Given the description of an element on the screen output the (x, y) to click on. 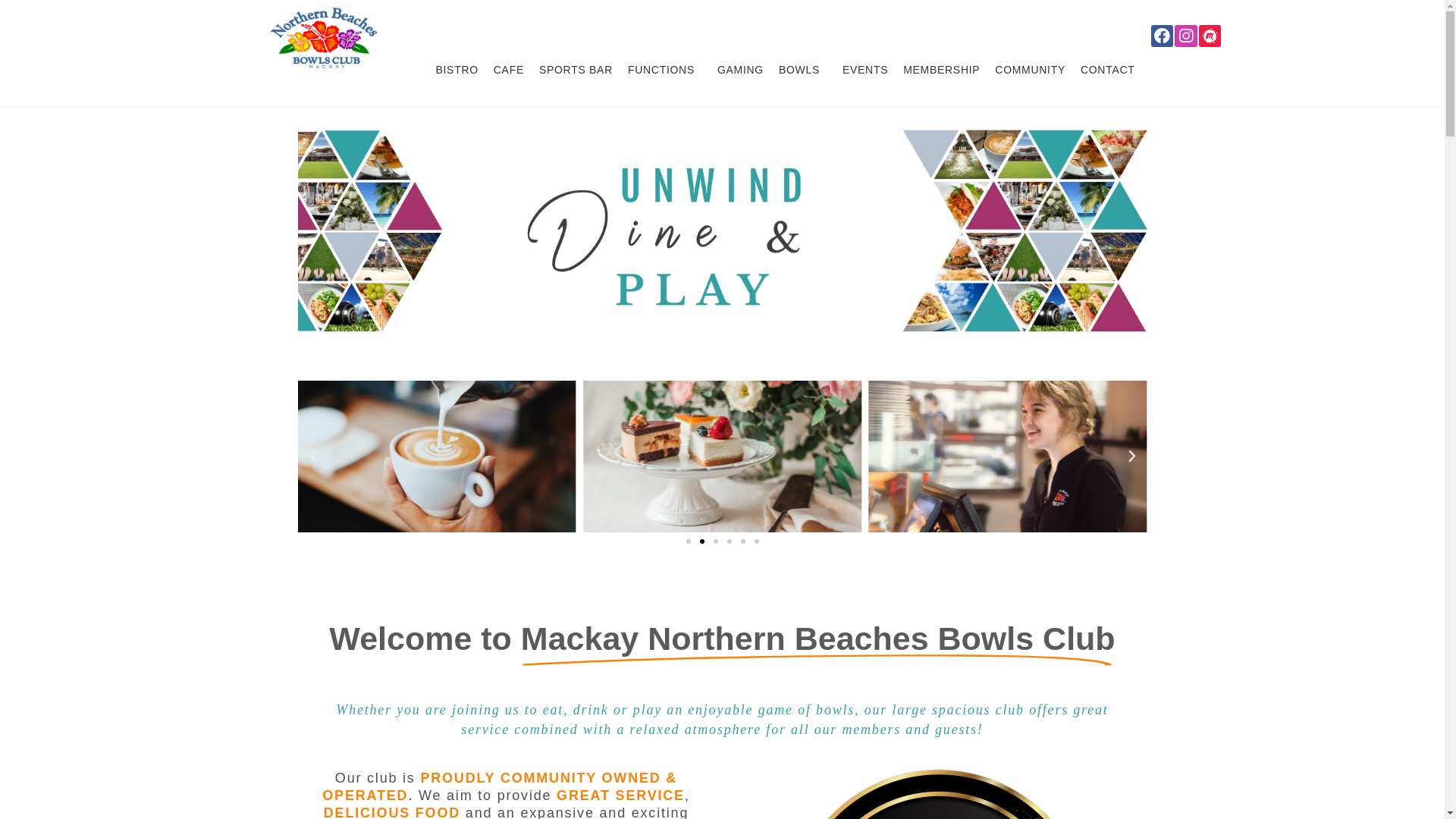
SPORTS BAR Element type: text (575, 69)
COMMUNITY Element type: text (1030, 69)
FUNCTIONS Element type: text (665, 69)
BISTRO Element type: text (456, 69)
Bowls Club in Mackay | Mackay Northern Beaches Bowls Club Element type: hover (323, 36)
CONTACT Element type: text (1107, 69)
BOWLS Element type: text (803, 69)
CAFE Element type: text (508, 69)
EVENTS Element type: text (864, 69)
MEMBERSHIP Element type: text (941, 69)
GAMING Element type: text (740, 69)
